Given the description of an element on the screen output the (x, y) to click on. 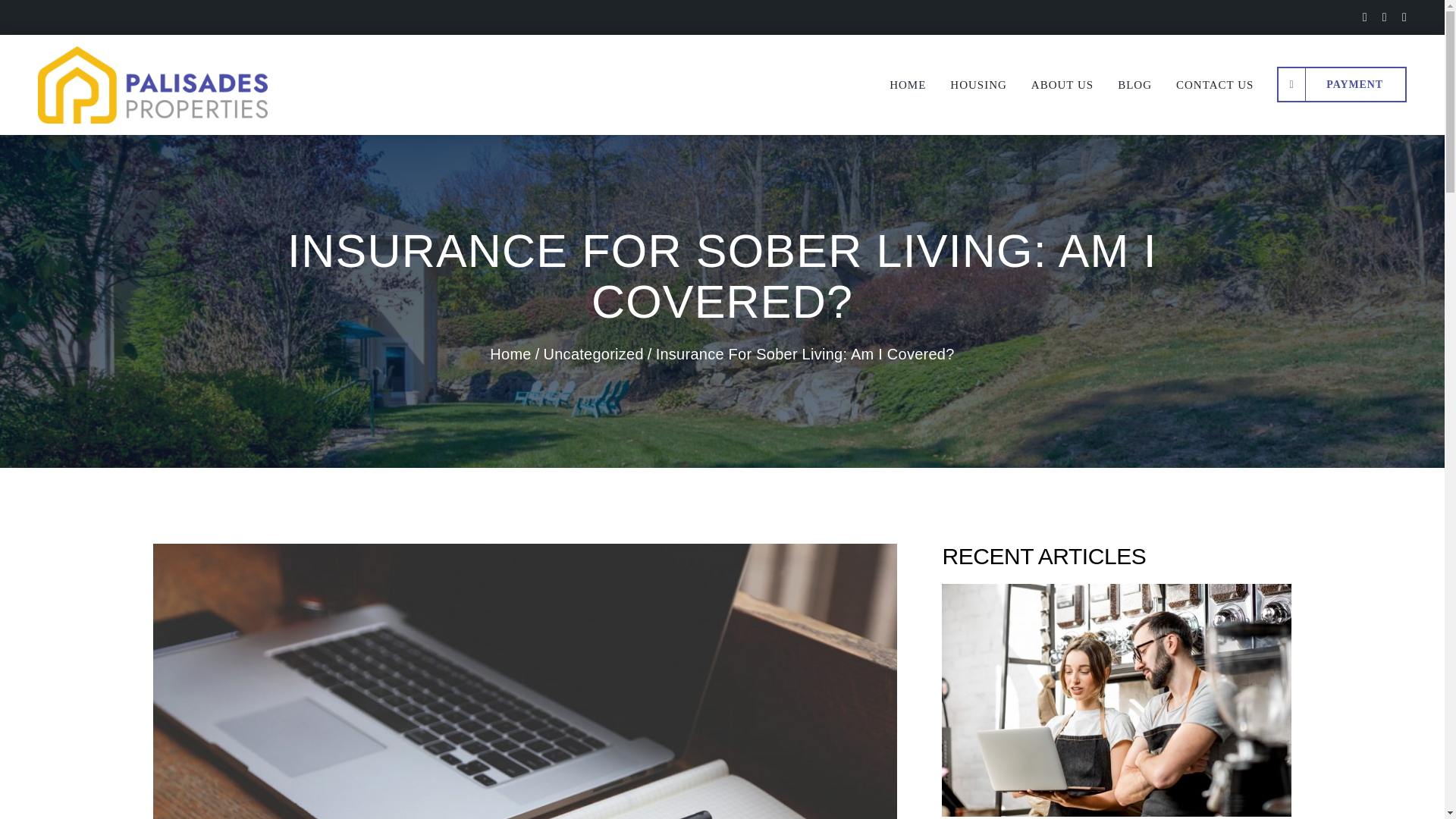
HOUSING (978, 84)
Uncategorized (593, 353)
ABOUT US (1062, 84)
Home (510, 353)
CONTACT US (1214, 84)
PAYMENT (1341, 84)
